Given the description of an element on the screen output the (x, y) to click on. 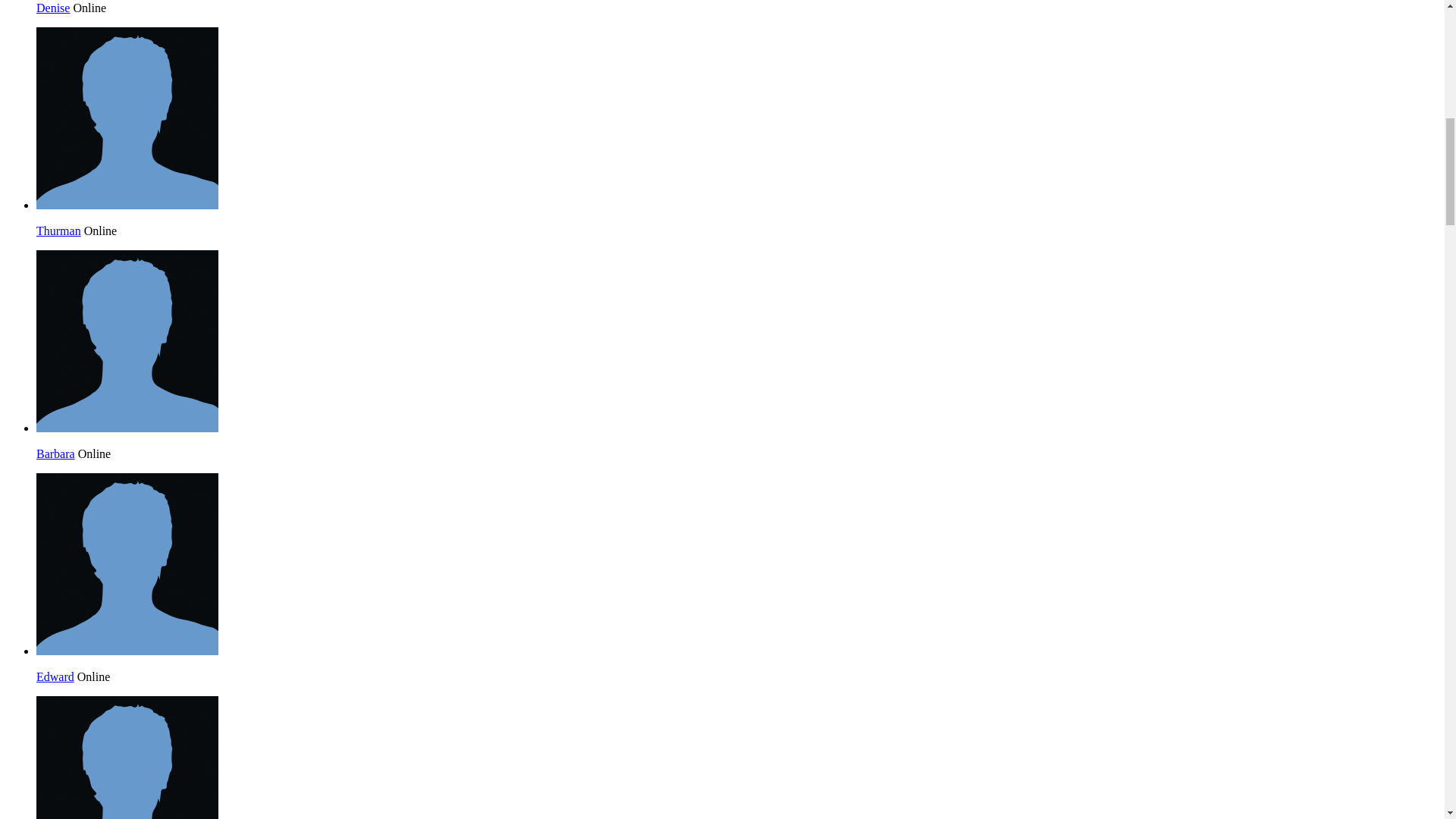
Denise (52, 7)
Thurman (58, 230)
Barbara (127, 427)
Edward (127, 650)
Edward (55, 676)
Thurman (127, 205)
Barbara (55, 453)
